Given the description of an element on the screen output the (x, y) to click on. 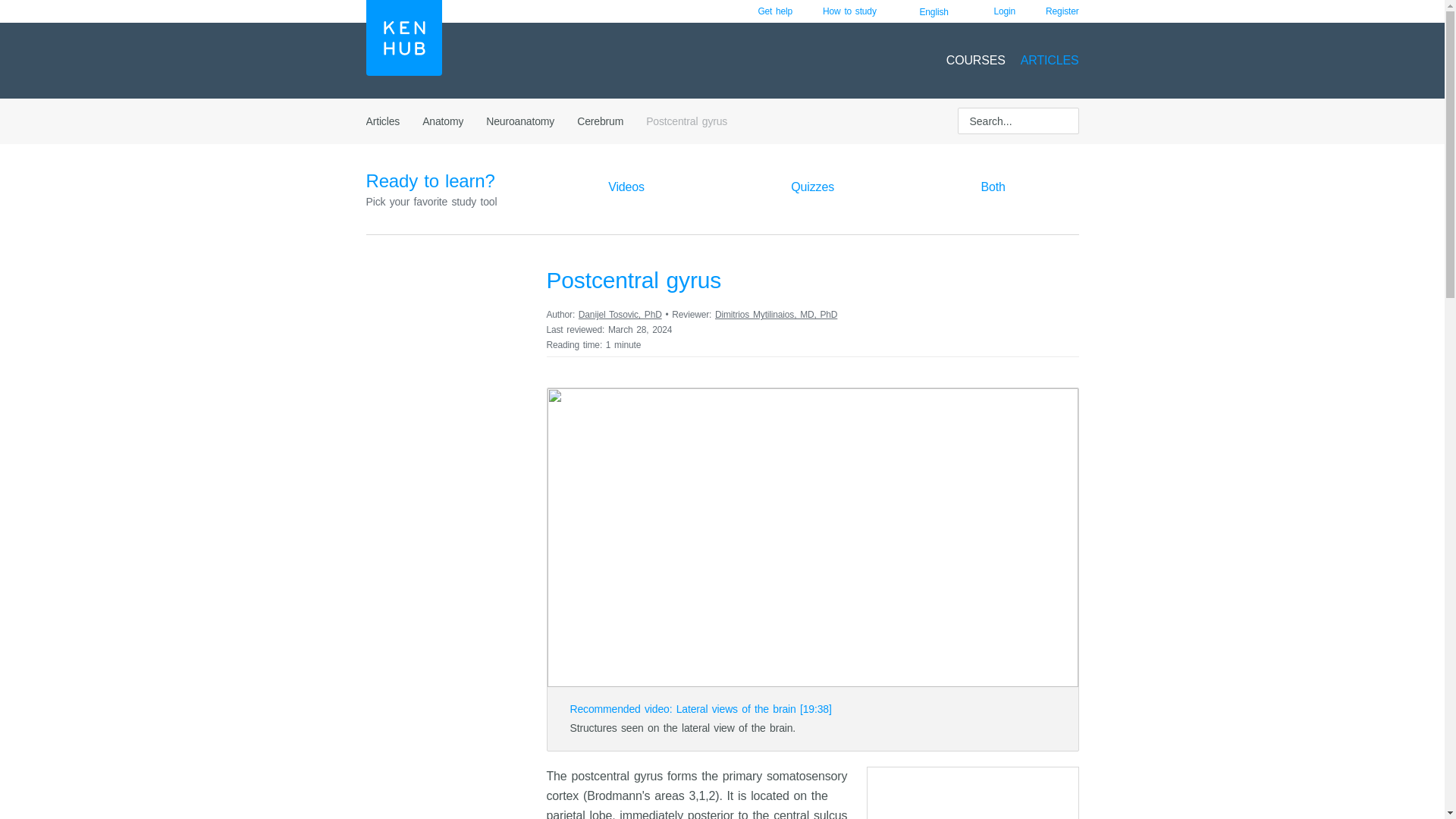
Cerebrum (599, 121)
Neuroanatomy (520, 121)
Articles (381, 121)
Anatomy (442, 121)
